Given the description of an element on the screen output the (x, y) to click on. 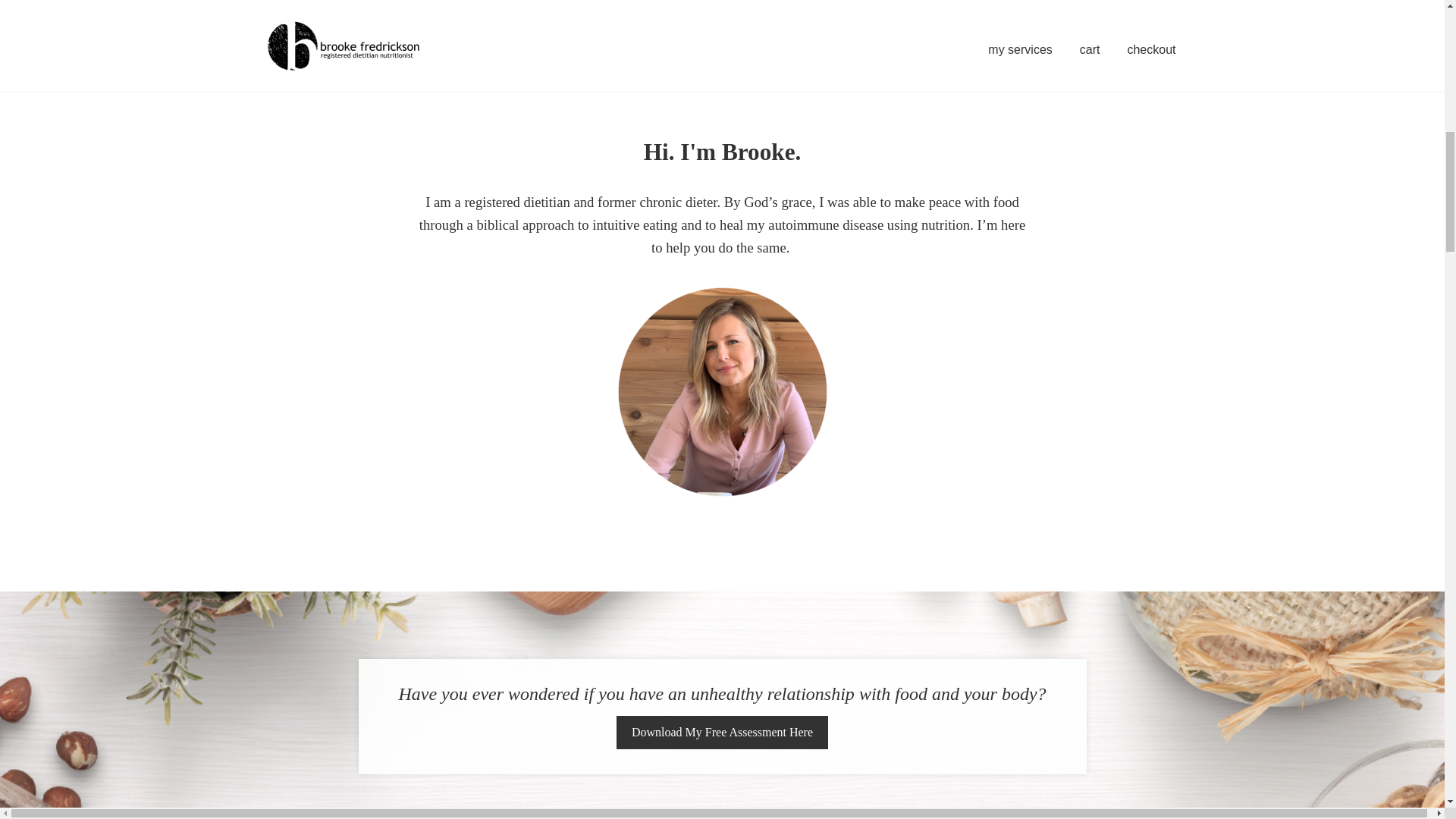
Download My Free Assessment Here (721, 732)
Set up a free discovery call (722, 35)
